Given the description of an element on the screen output the (x, y) to click on. 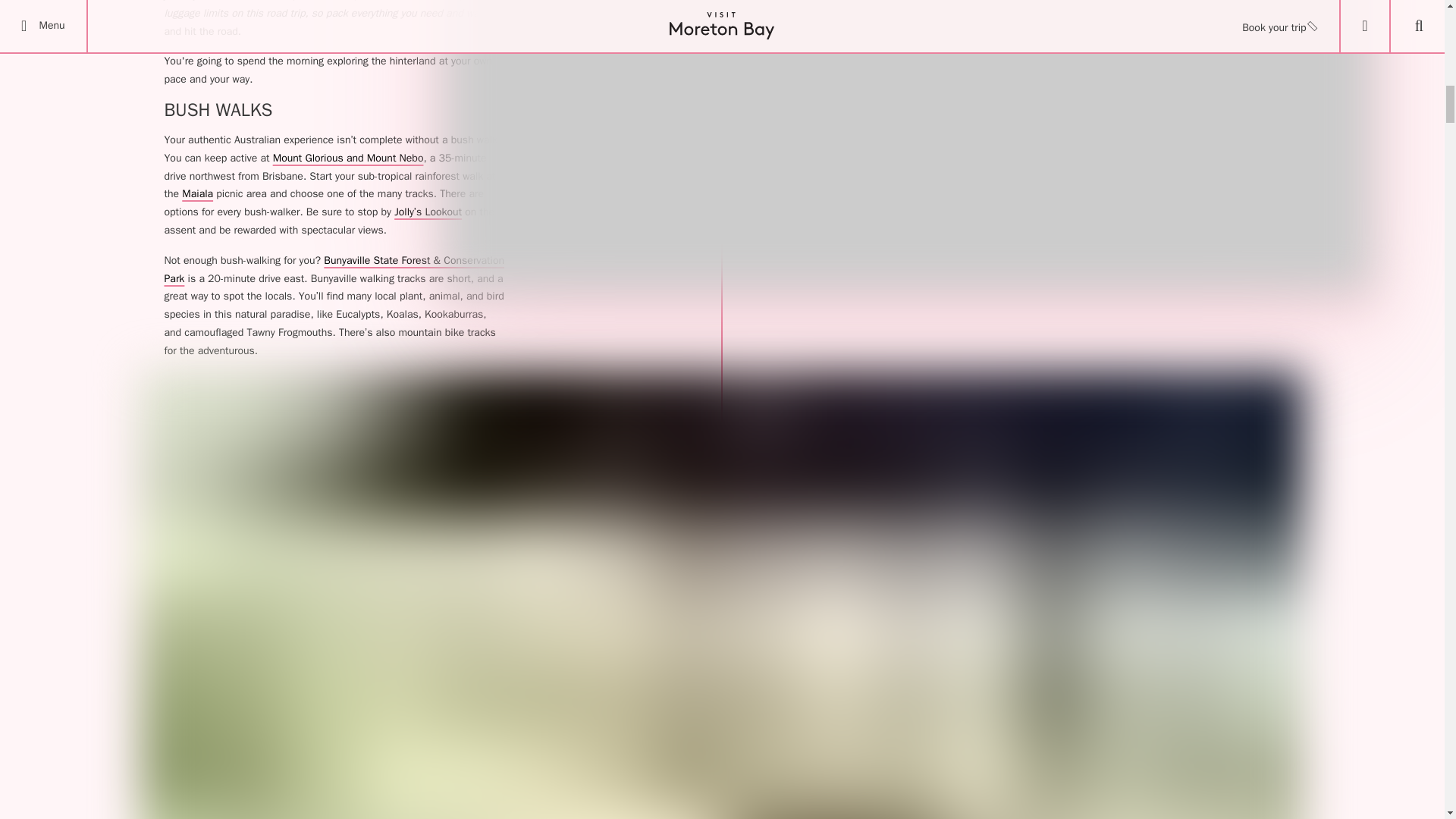
Mount Glorious and Mount Nebo (348, 157)
Maiala (197, 193)
